Given the description of an element on the screen output the (x, y) to click on. 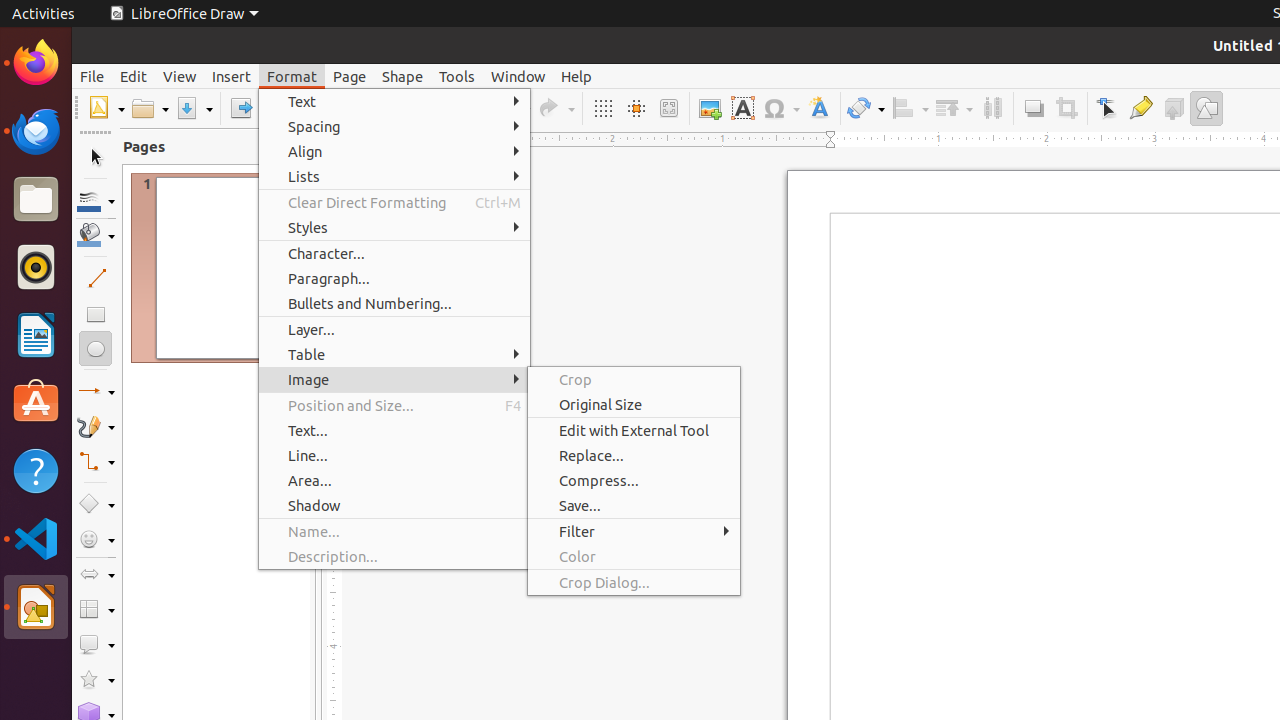
Visual Studio Code Element type: push-button (36, 538)
Filter Element type: menu (634, 531)
Crop Element type: push-button (1066, 108)
Toggle Extrusion Element type: push-button (1173, 108)
Compress... Element type: menu-item (634, 480)
